Given the description of an element on the screen output the (x, y) to click on. 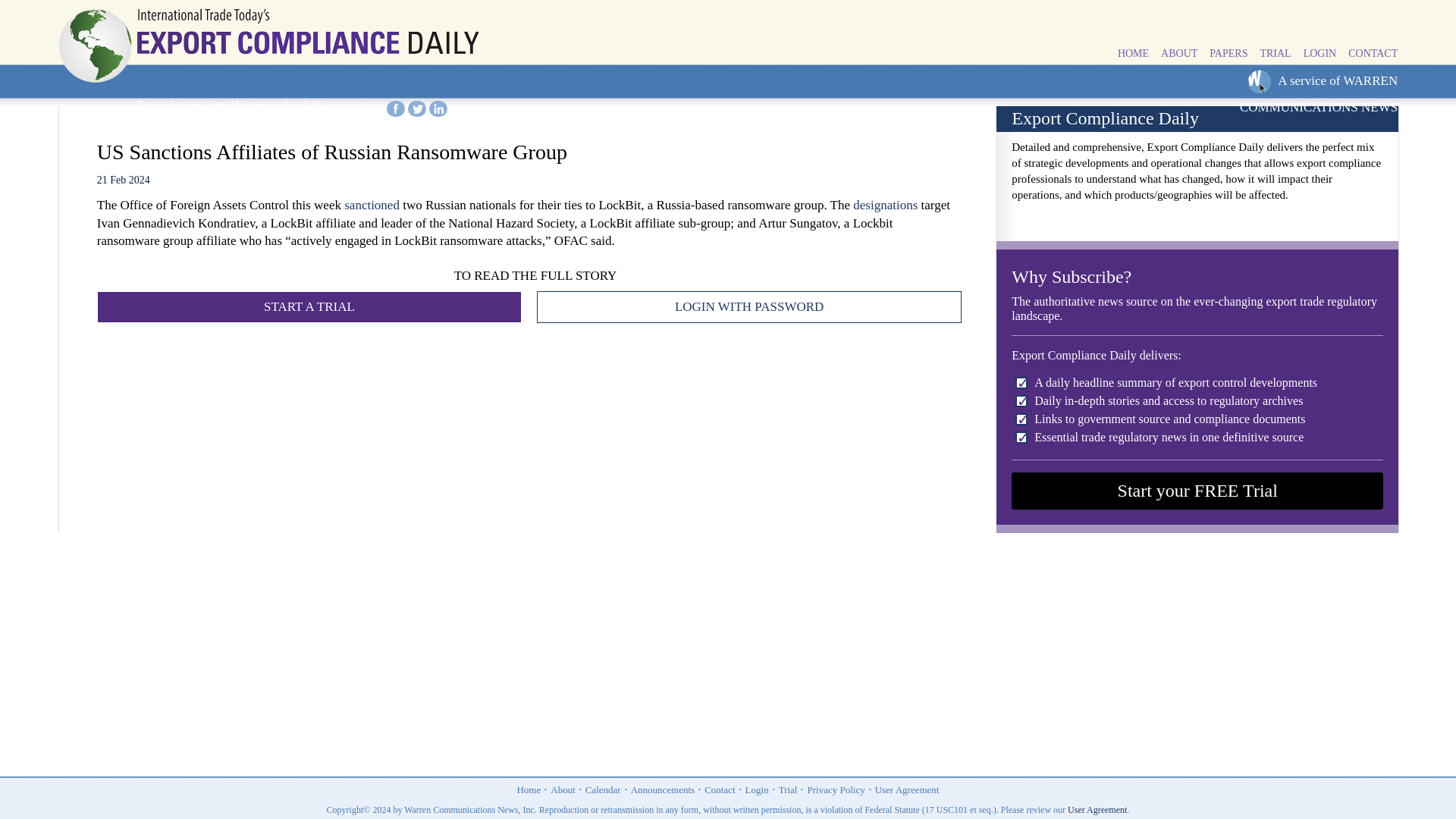
designations (885, 205)
LOGIN WITH PASSWORD (748, 306)
HOME (1133, 53)
PAPERS (1228, 53)
CONTACT (1372, 53)
LOGIN (1319, 53)
A service of WARREN COMMUNICATIONS NEWS (1318, 93)
TRIAL (1274, 53)
START A TRIAL (309, 306)
ABOUT (1178, 53)
sanctioned (370, 205)
